Given the description of an element on the screen output the (x, y) to click on. 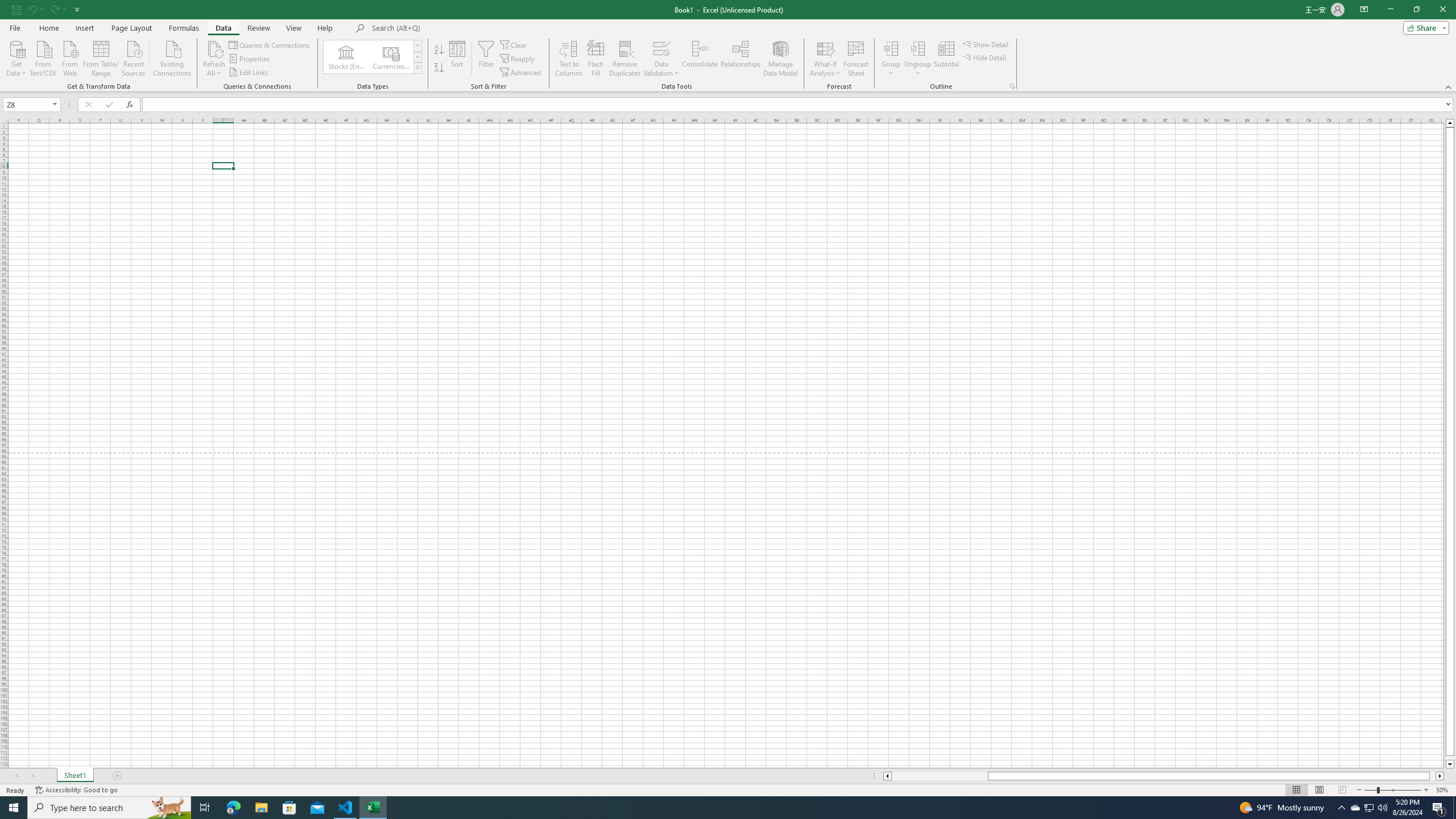
Collapse the Ribbon (1448, 86)
Relationships (740, 58)
Edit Links (249, 72)
Column right (1440, 775)
Data (223, 28)
Queries & Connections (270, 44)
Class: MsoCommandBar (728, 45)
Refresh All (214, 48)
File Tab (15, 27)
Customize Quick Access Toolbar (77, 9)
Currencies (English) (390, 56)
From Table/Range (100, 57)
Zoom Out (1370, 790)
